Given the description of an element on the screen output the (x, y) to click on. 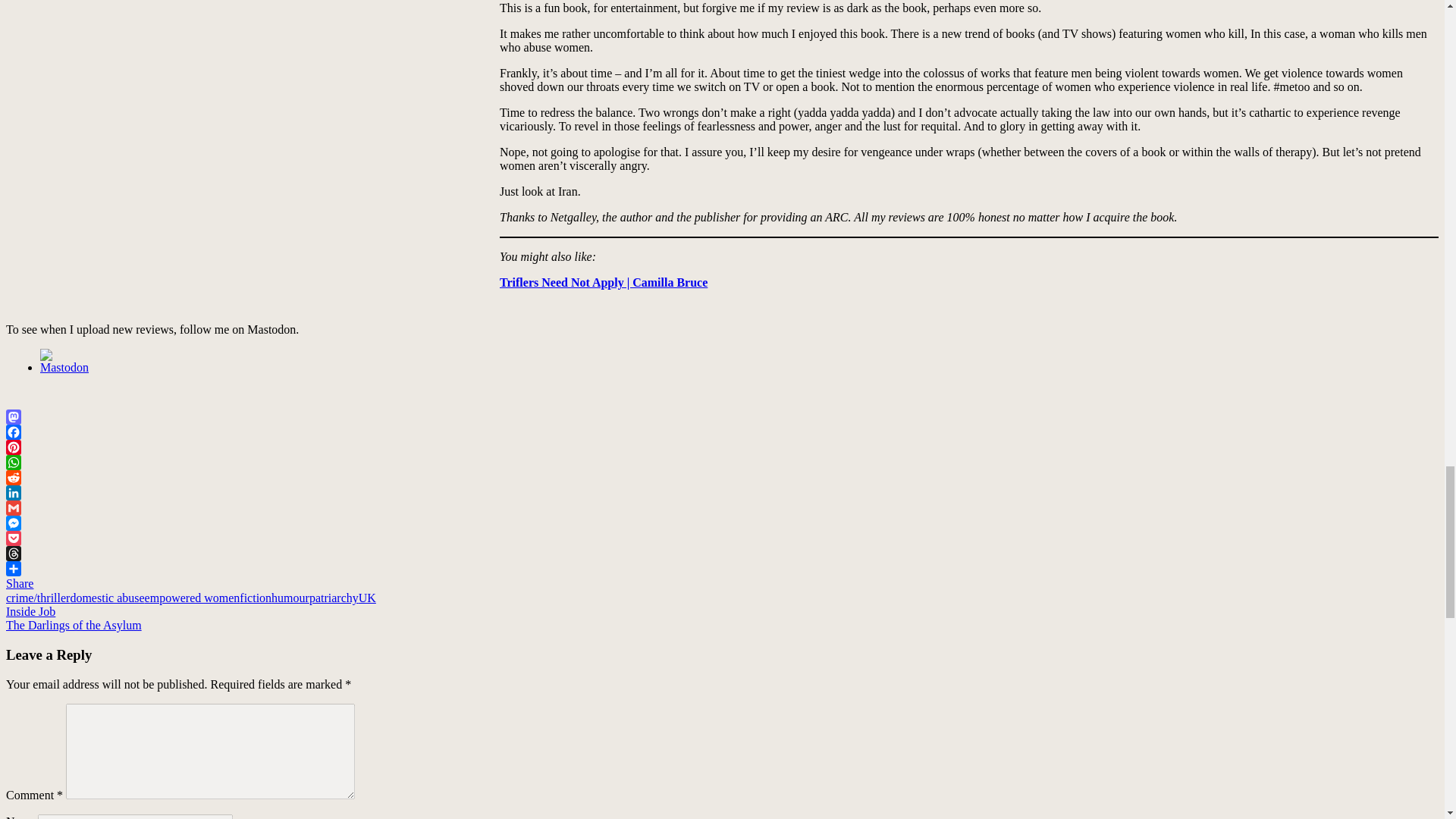
Mastodon (64, 367)
